Given the description of an element on the screen output the (x, y) to click on. 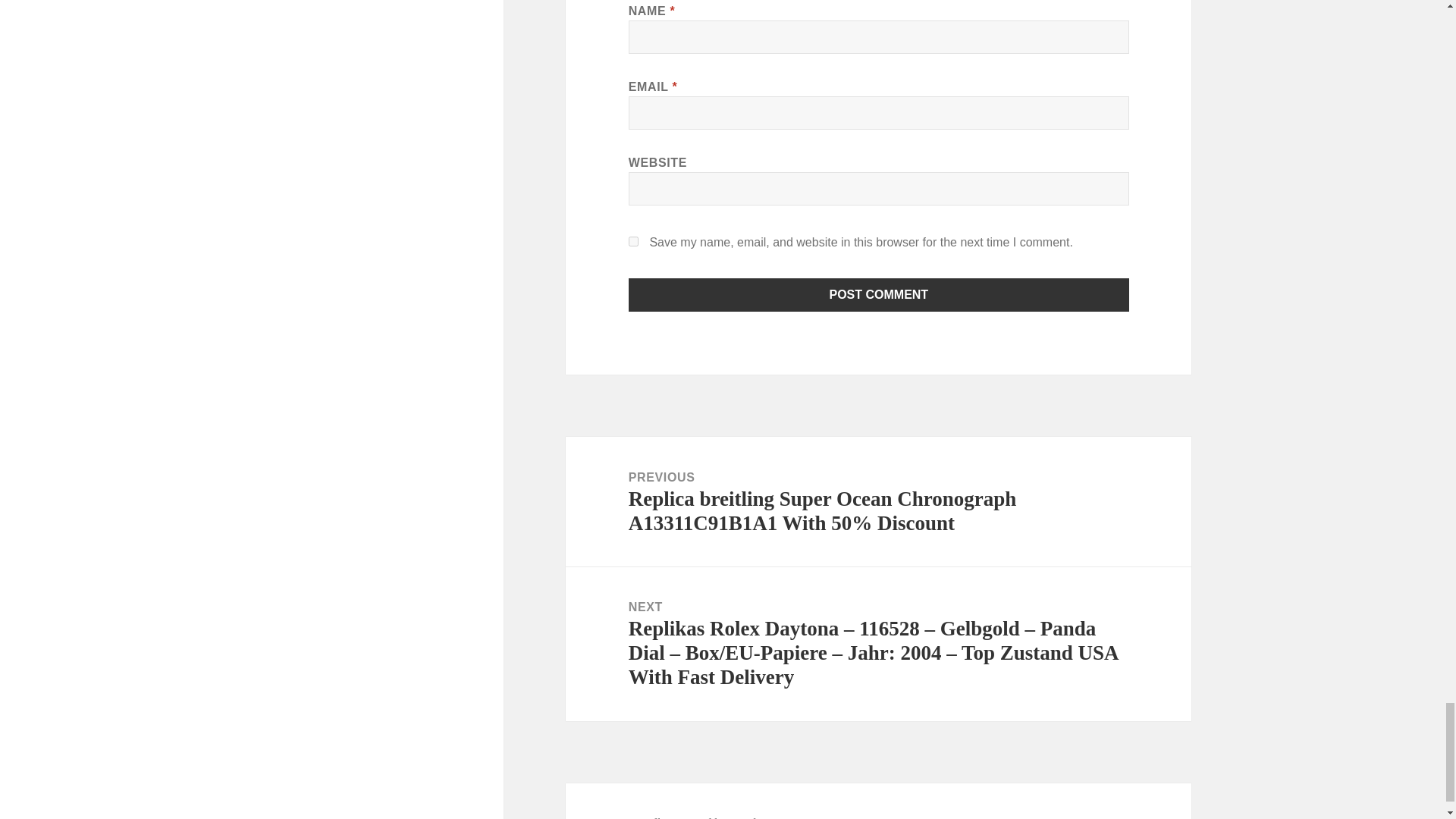
Post Comment (878, 295)
yes (633, 241)
